Given the description of an element on the screen output the (x, y) to click on. 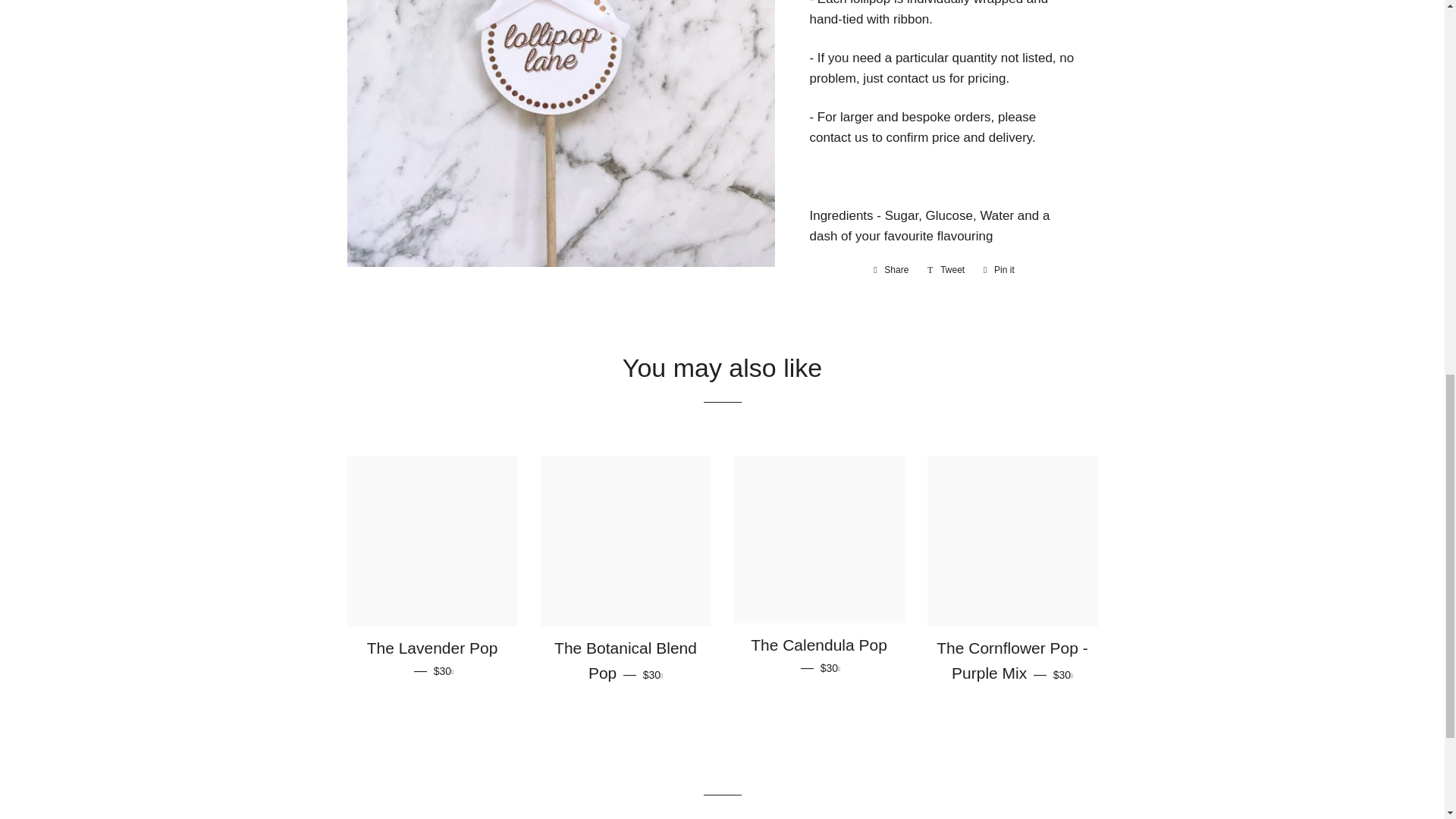
Share on Facebook (890, 269)
Tweet on Twitter (946, 269)
Pin on Pinterest (890, 269)
